Given the description of an element on the screen output the (x, y) to click on. 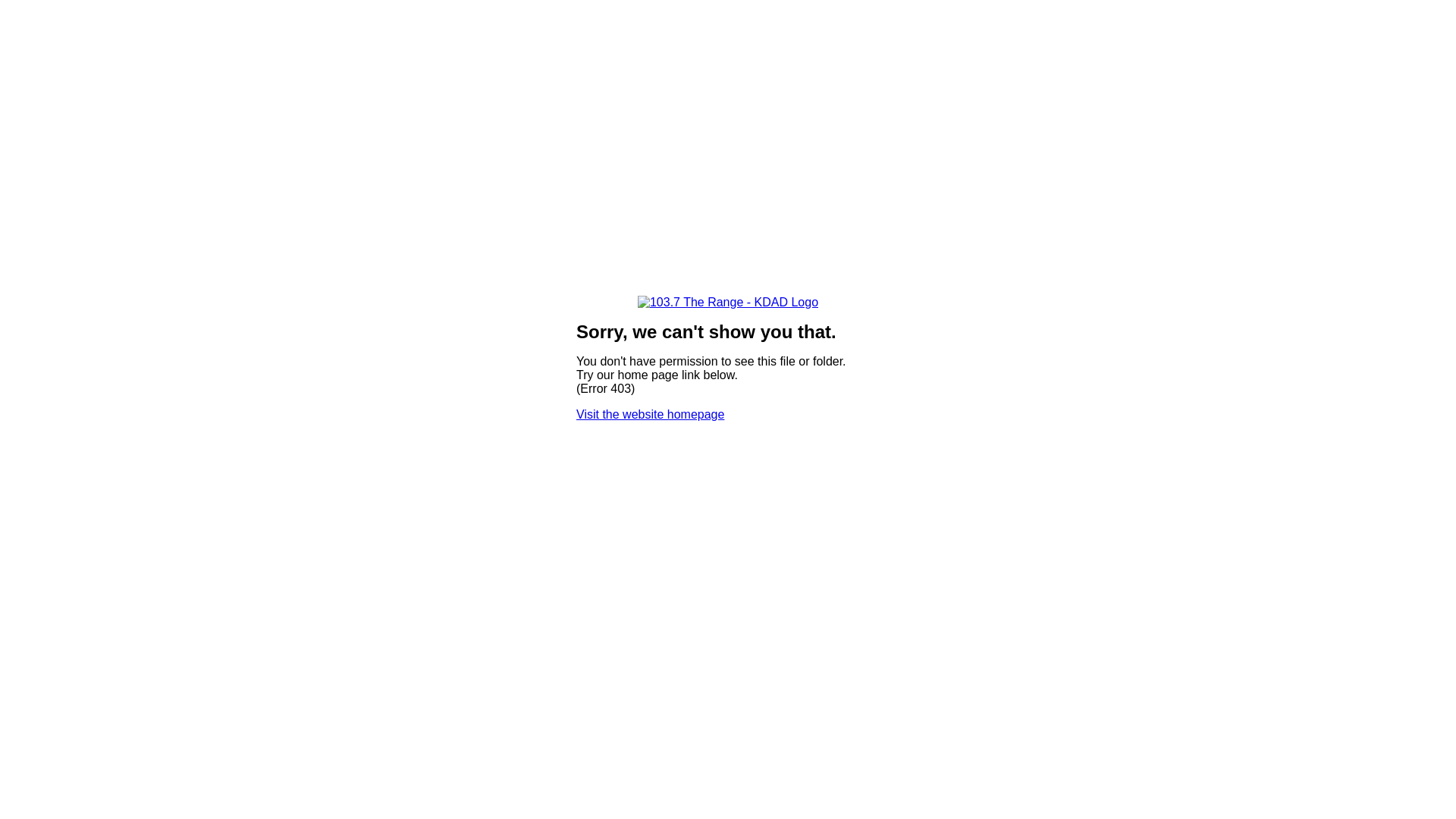
Visit the website homepage Element type: text (650, 413)
